Given the description of an element on the screen output the (x, y) to click on. 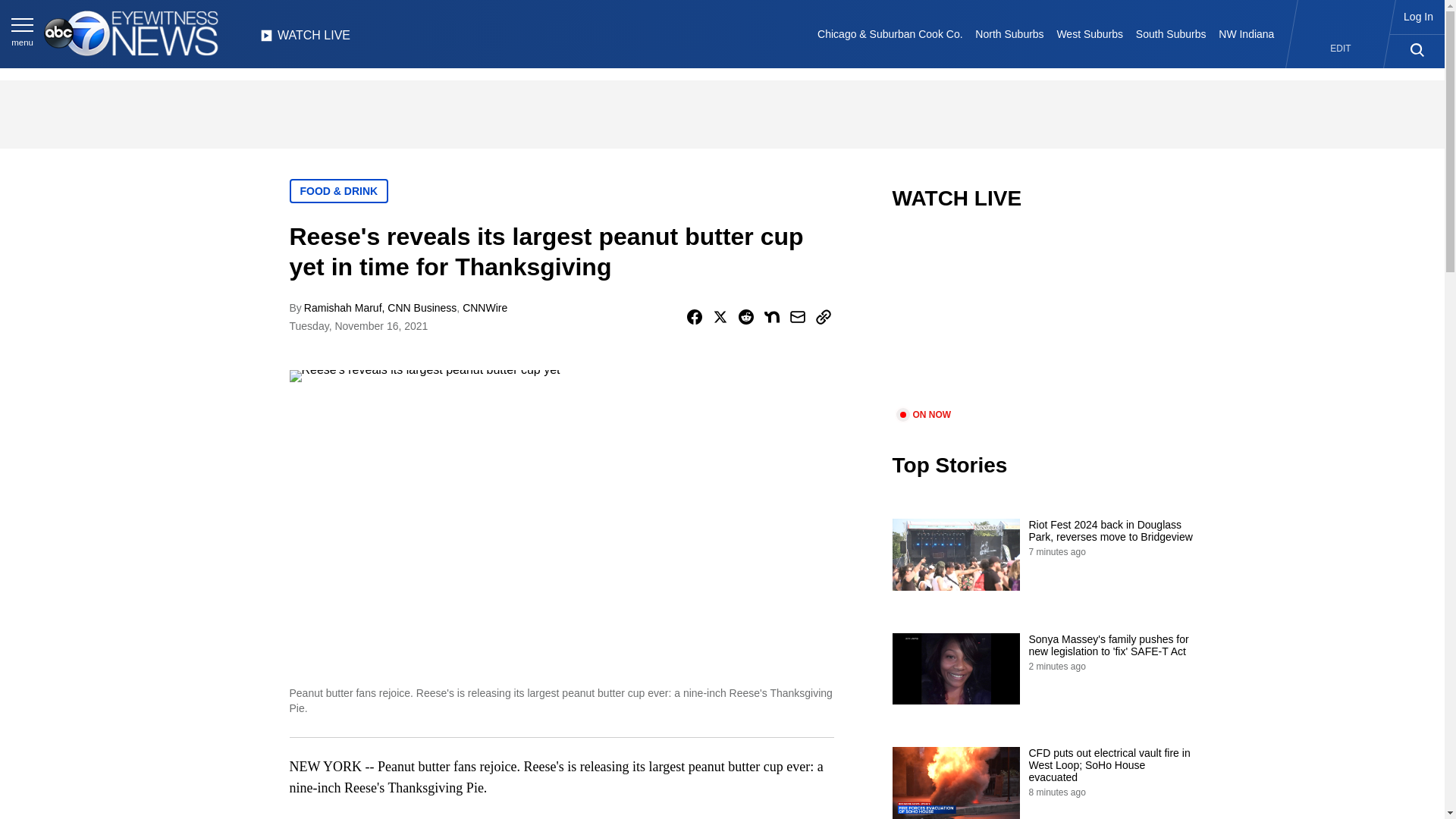
NW Indiana (1246, 33)
video.title (1043, 318)
North Suburbs (1009, 33)
West Suburbs (1089, 33)
WATCH LIVE (305, 39)
EDIT (1340, 48)
South Suburbs (1170, 33)
